Given the description of an element on the screen output the (x, y) to click on. 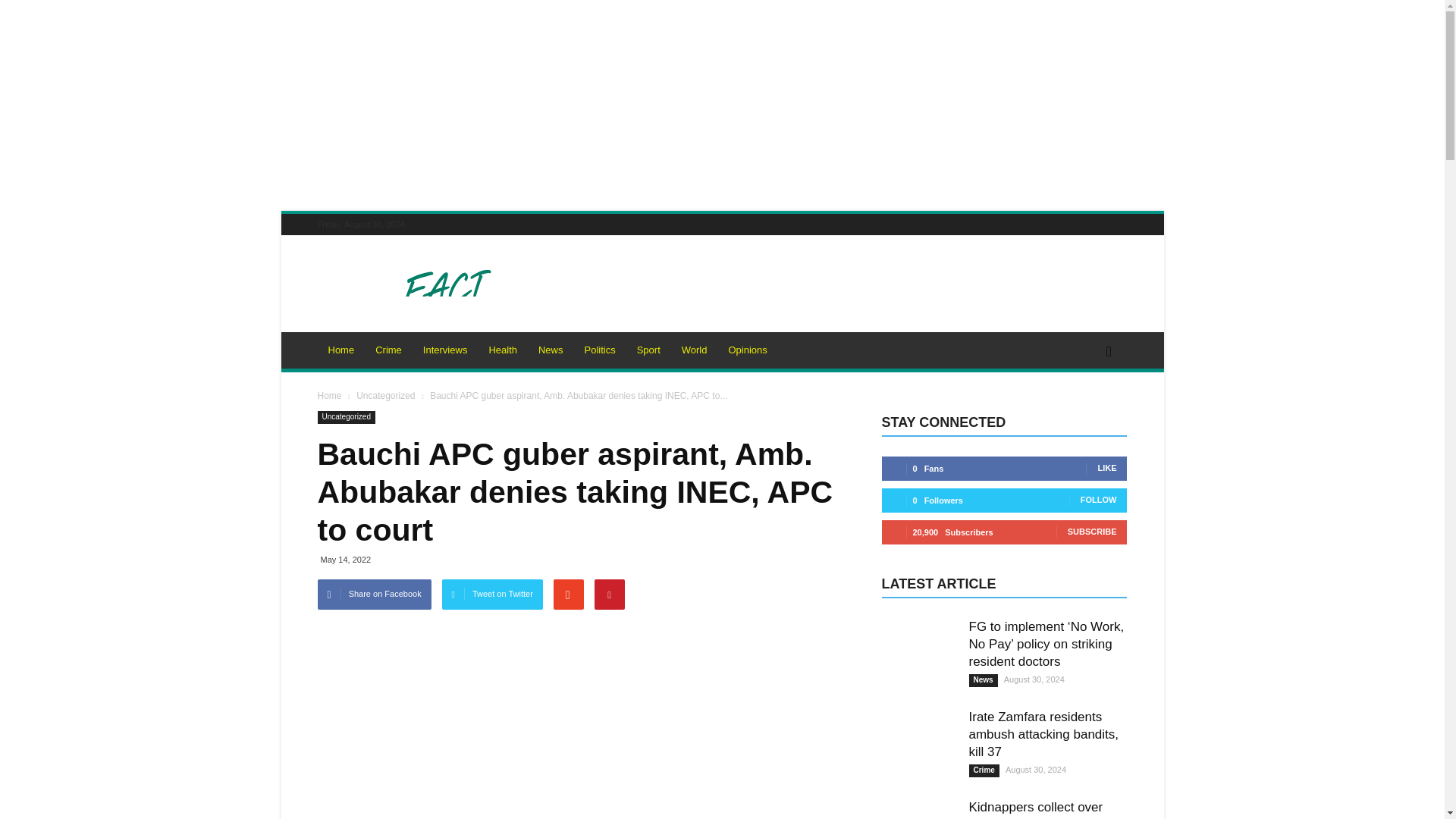
World (694, 350)
Uncategorized (386, 395)
News (550, 350)
Home (328, 395)
Uncategorized (345, 417)
Opinions (747, 350)
Tweet on Twitter (492, 594)
Health (502, 350)
Crime (388, 350)
View all posts in Uncategorized (386, 395)
